Given the description of an element on the screen output the (x, y) to click on. 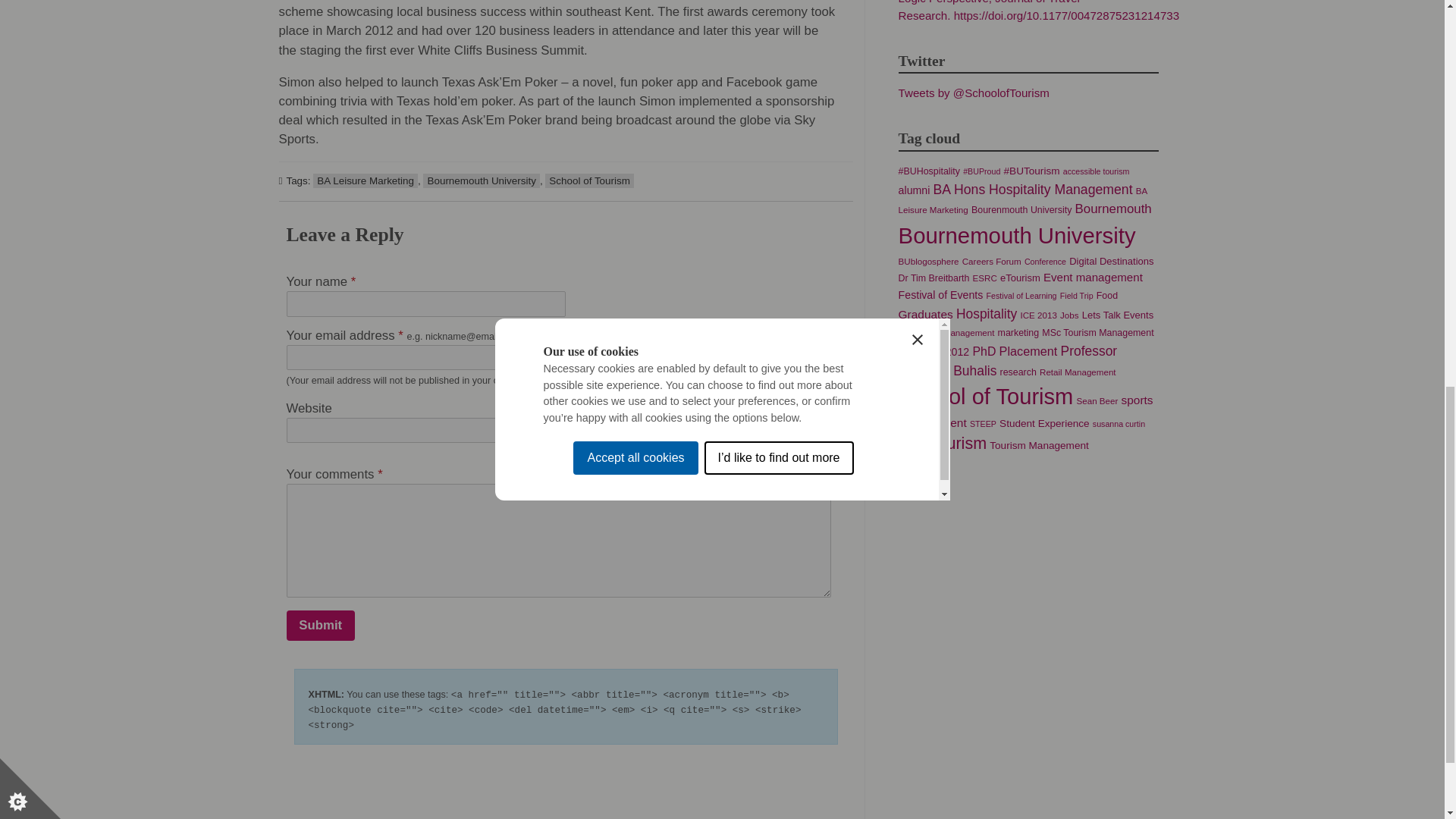
Bourenmouth University (1021, 209)
accessible tourism (1095, 171)
Dr Tim Breitbarth (933, 277)
Bournemouth University (480, 180)
Digital Destinations (1110, 260)
BUblogosphere (928, 261)
BA Hons Hospitality Management (1032, 189)
Submit (320, 625)
BA Leisure Marketing (365, 180)
School of Tourism (588, 180)
Bournemouth University (1016, 235)
Conference (1045, 261)
BA Leisure Marketing (1022, 200)
Submit (320, 625)
Careers Forum (992, 261)
